Given the description of an element on the screen output the (x, y) to click on. 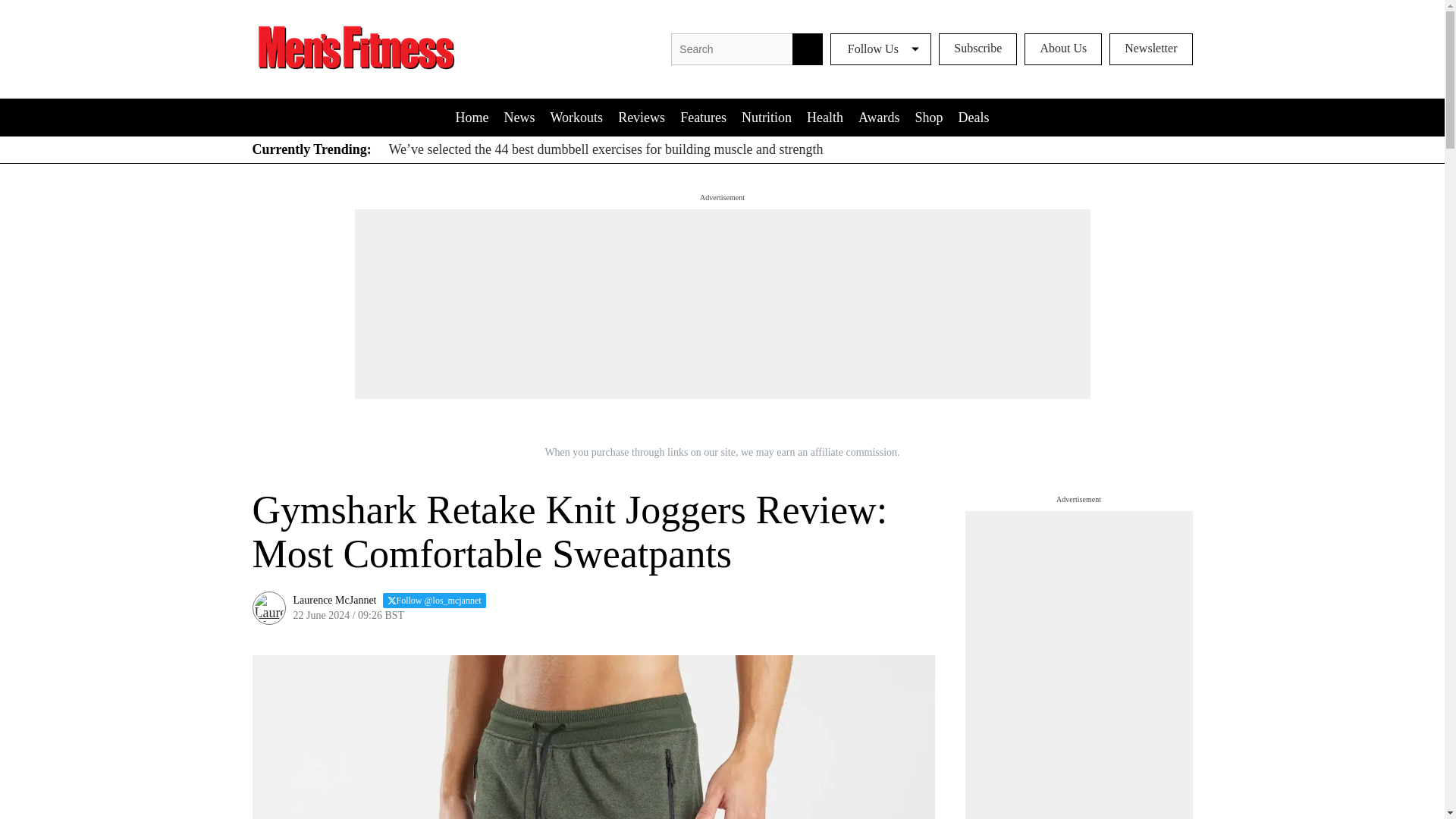
data-awinignore data-noskim (977, 49)
Awards (878, 117)
Subscribe (977, 49)
Deals (972, 117)
Search (807, 49)
Shop (928, 117)
Workouts (577, 117)
Reviews (641, 117)
Nutrition (766, 117)
Health (824, 117)
